Given the description of an element on the screen output the (x, y) to click on. 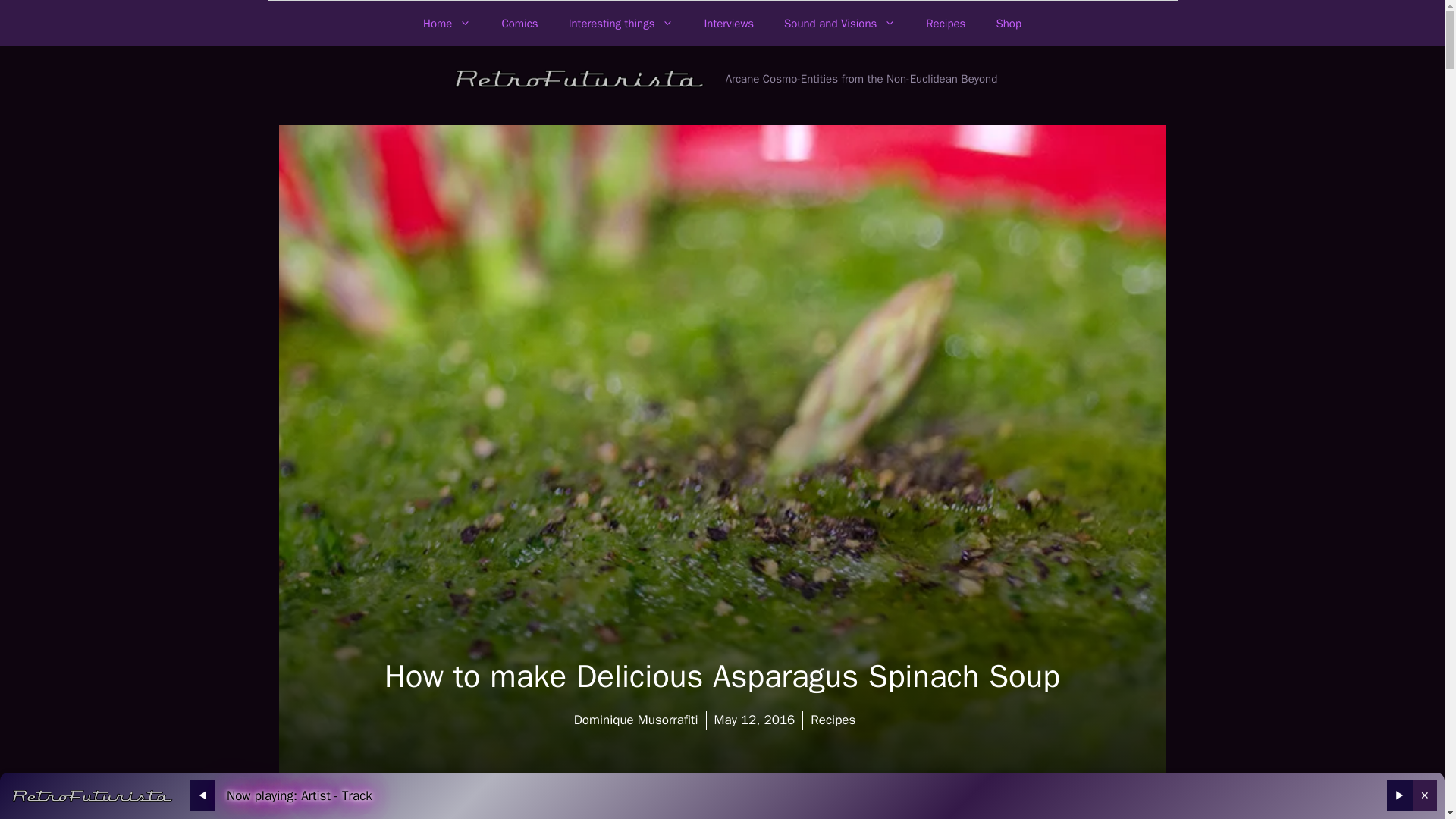
Recipes (945, 22)
Sound and Visions (839, 22)
Interviews (728, 22)
Interesting things (620, 22)
Comics (519, 22)
Shop (1007, 22)
Home (446, 22)
